Given the description of an element on the screen output the (x, y) to click on. 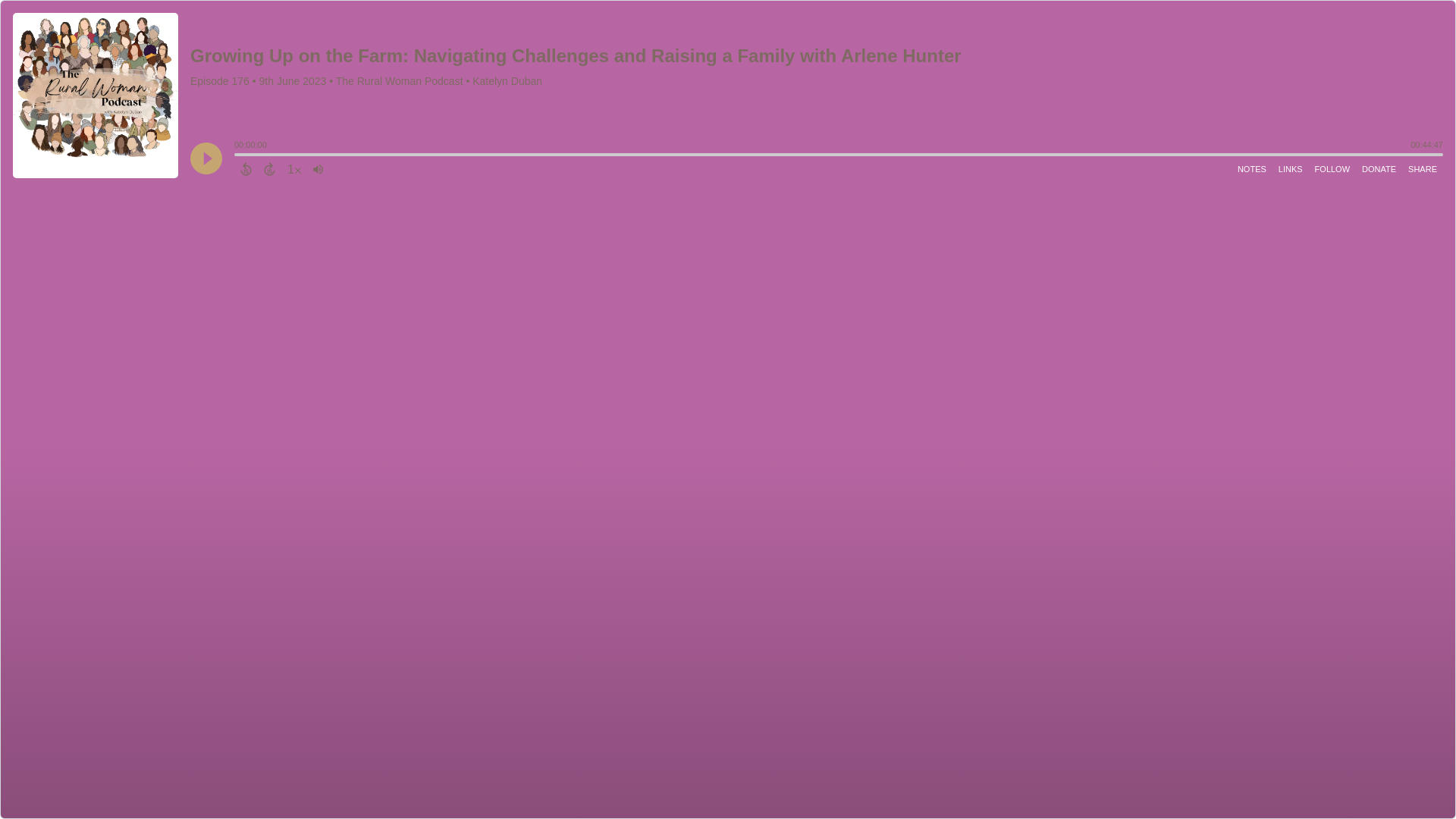
1 (294, 168)
SHARE (1422, 168)
FOLLOW (1331, 168)
LINKS (1290, 168)
DONATE (1378, 168)
NOTES (1251, 168)
